Given the description of an element on the screen output the (x, y) to click on. 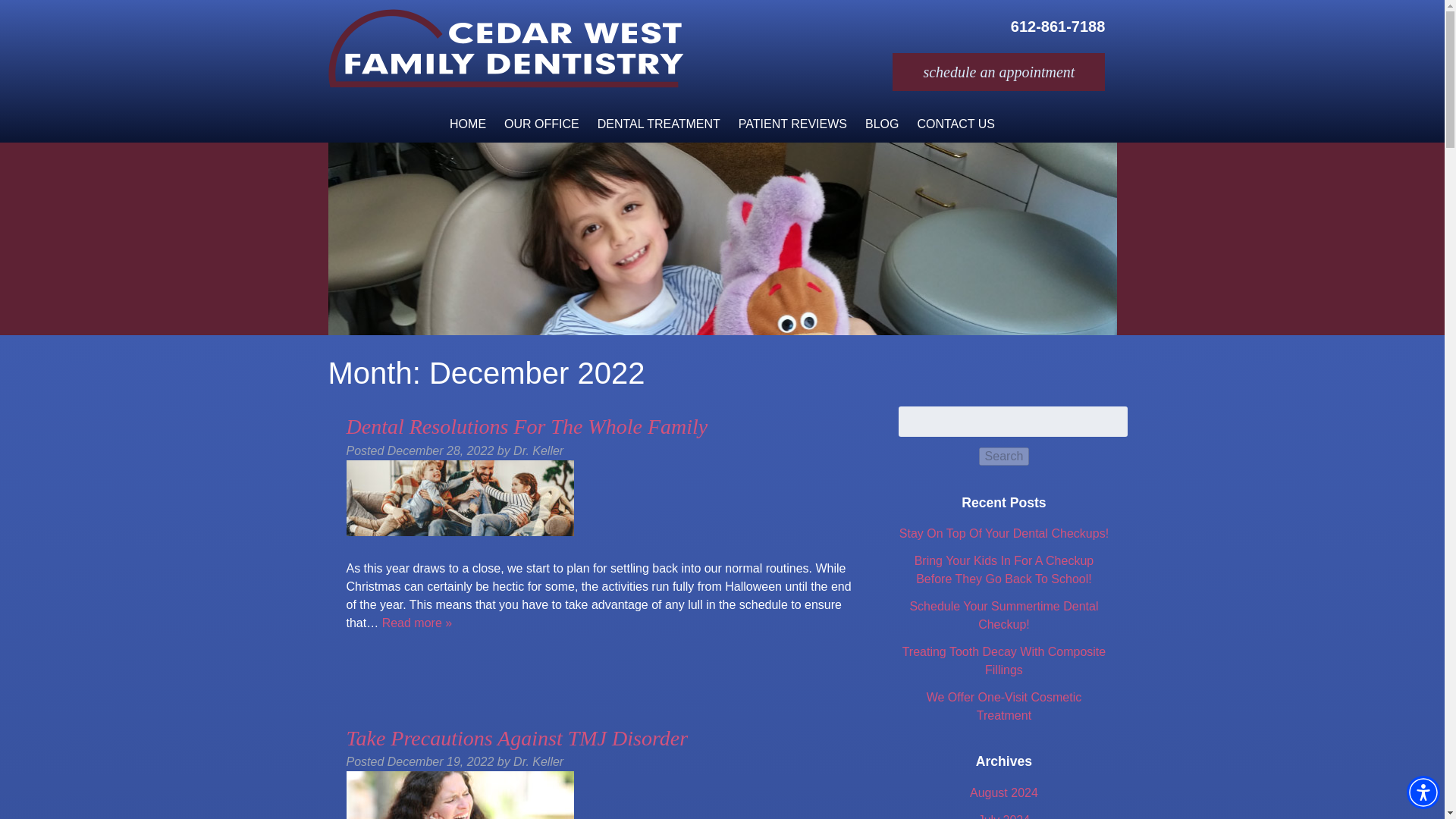
HOME (468, 124)
OUR OFFICE (541, 124)
Dental Resolutions For The Whole Family (526, 426)
DENTAL TREATMENT (658, 124)
Read Dental Resolutions For The Whole Family (416, 621)
Take Precautions Against TMJ Disorder (516, 738)
Accessibility Menu (1422, 792)
BLOG (881, 124)
Dental Resolutions For The Whole Family (526, 426)
Search (1003, 456)
